Given the description of an element on the screen output the (x, y) to click on. 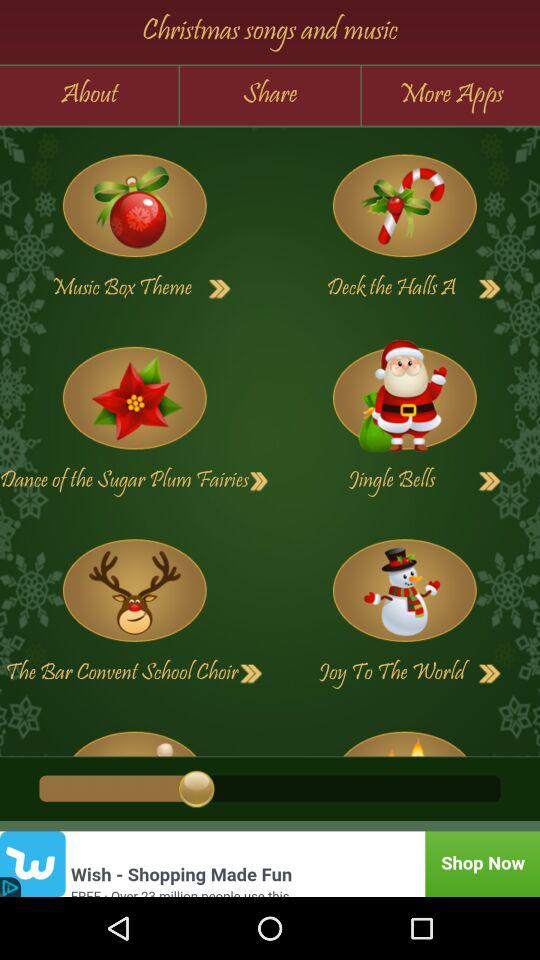
select song (404, 205)
